Given the description of an element on the screen output the (x, y) to click on. 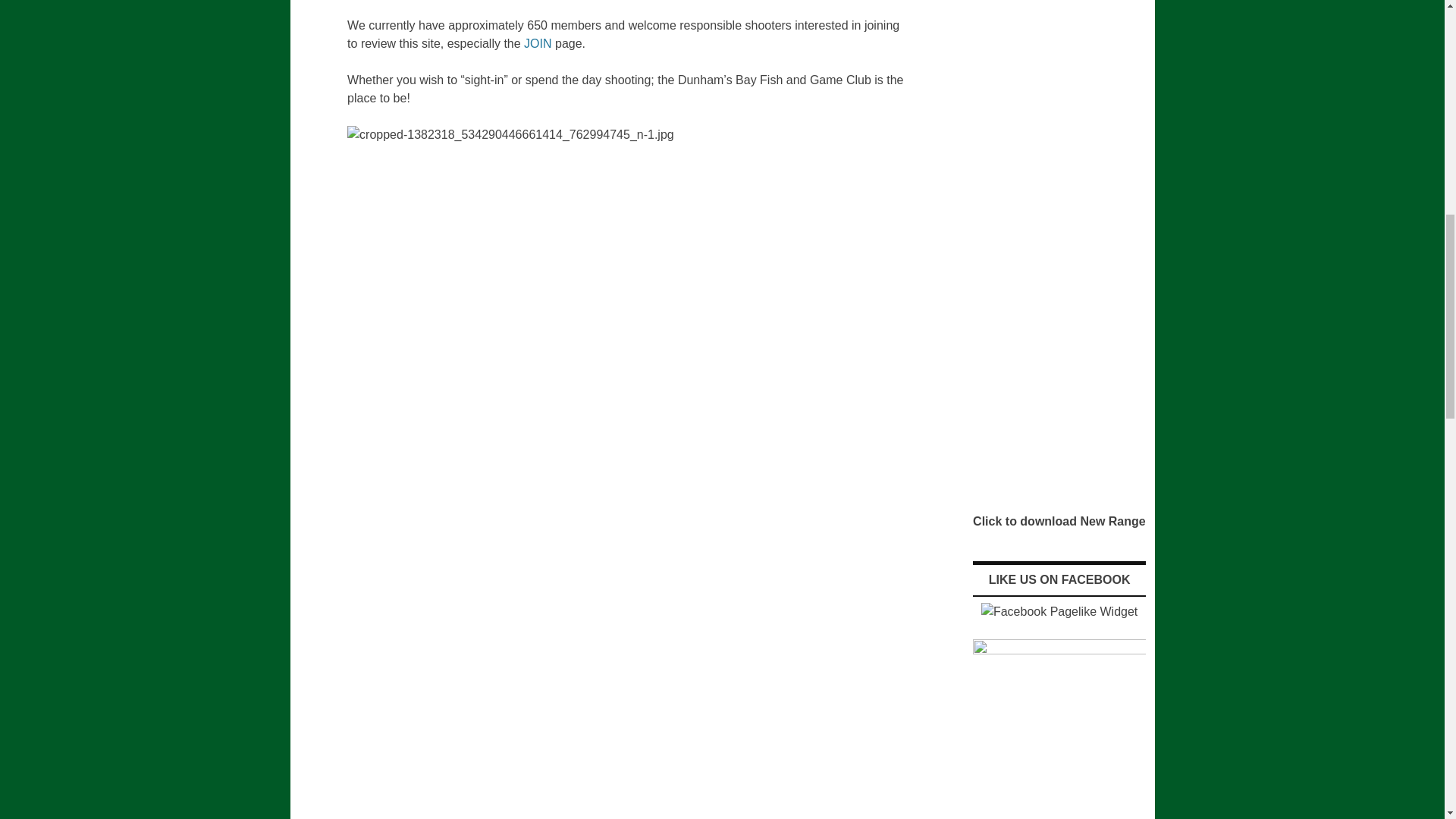
JOIN (539, 42)
